Given the description of an element on the screen output the (x, y) to click on. 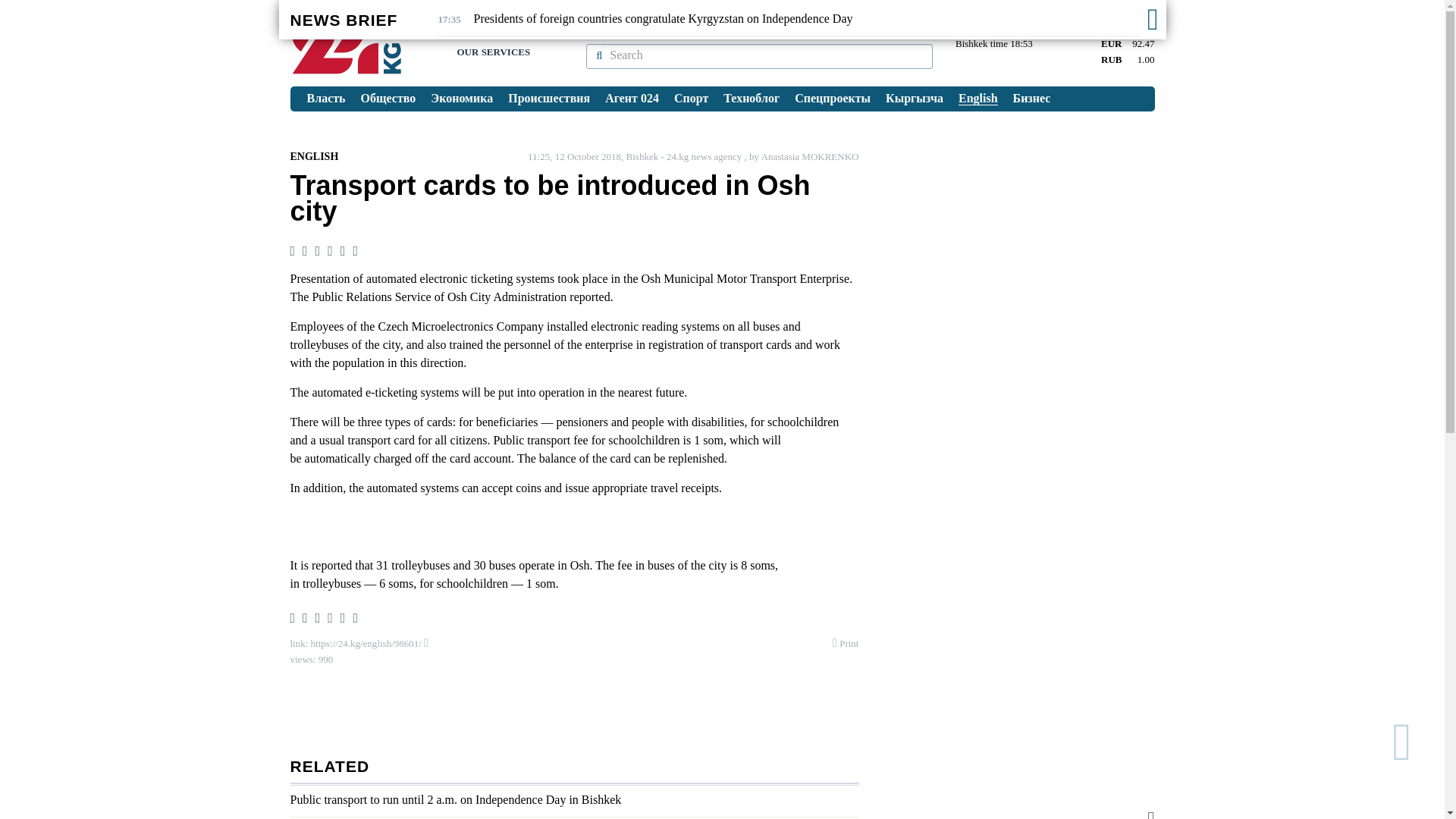
OUR SERVICES (493, 51)
English (978, 98)
ENGLISH (313, 156)
